Given the description of an element on the screen output the (x, y) to click on. 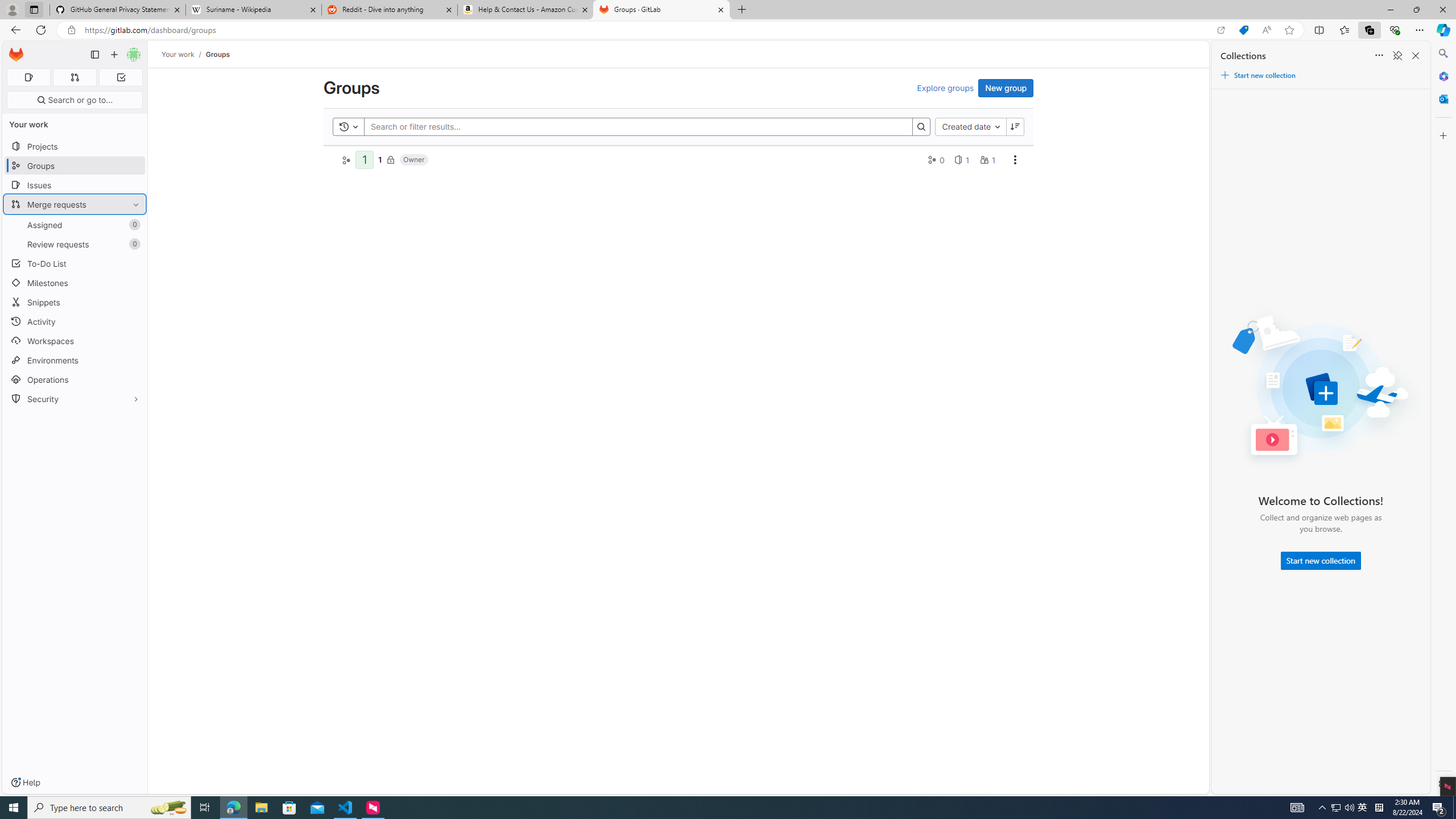
Activity (74, 321)
Milestones (74, 282)
Suriname - Wikipedia (253, 9)
Environments (74, 359)
Open in app (1220, 29)
Toggle history (348, 126)
Milestones (74, 282)
Issues (74, 185)
Start new collection (1321, 560)
